Given the description of an element on the screen output the (x, y) to click on. 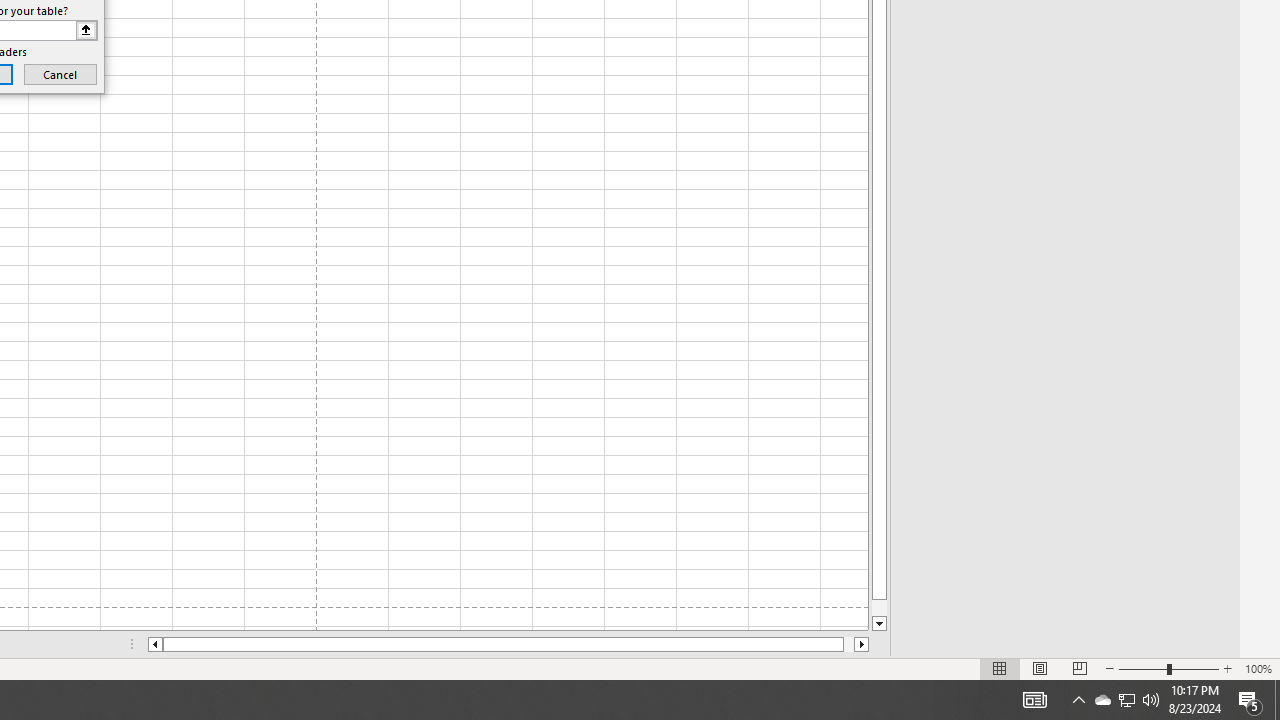
Page down (879, 607)
Page right (848, 644)
